Given the description of an element on the screen output the (x, y) to click on. 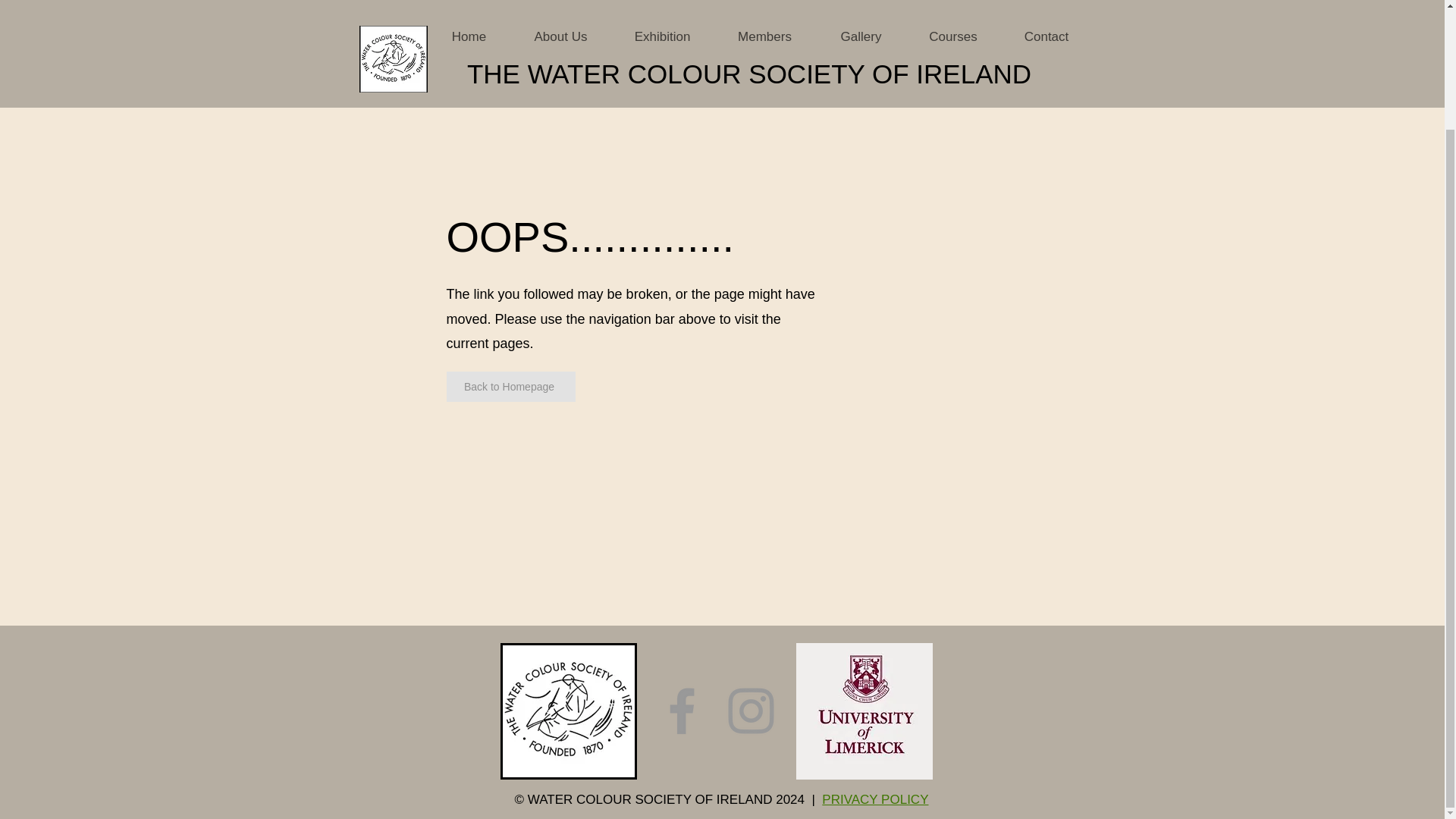
Back to Homepage (510, 386)
PRIVACY POLICY (875, 799)
